Given the description of an element on the screen output the (x, y) to click on. 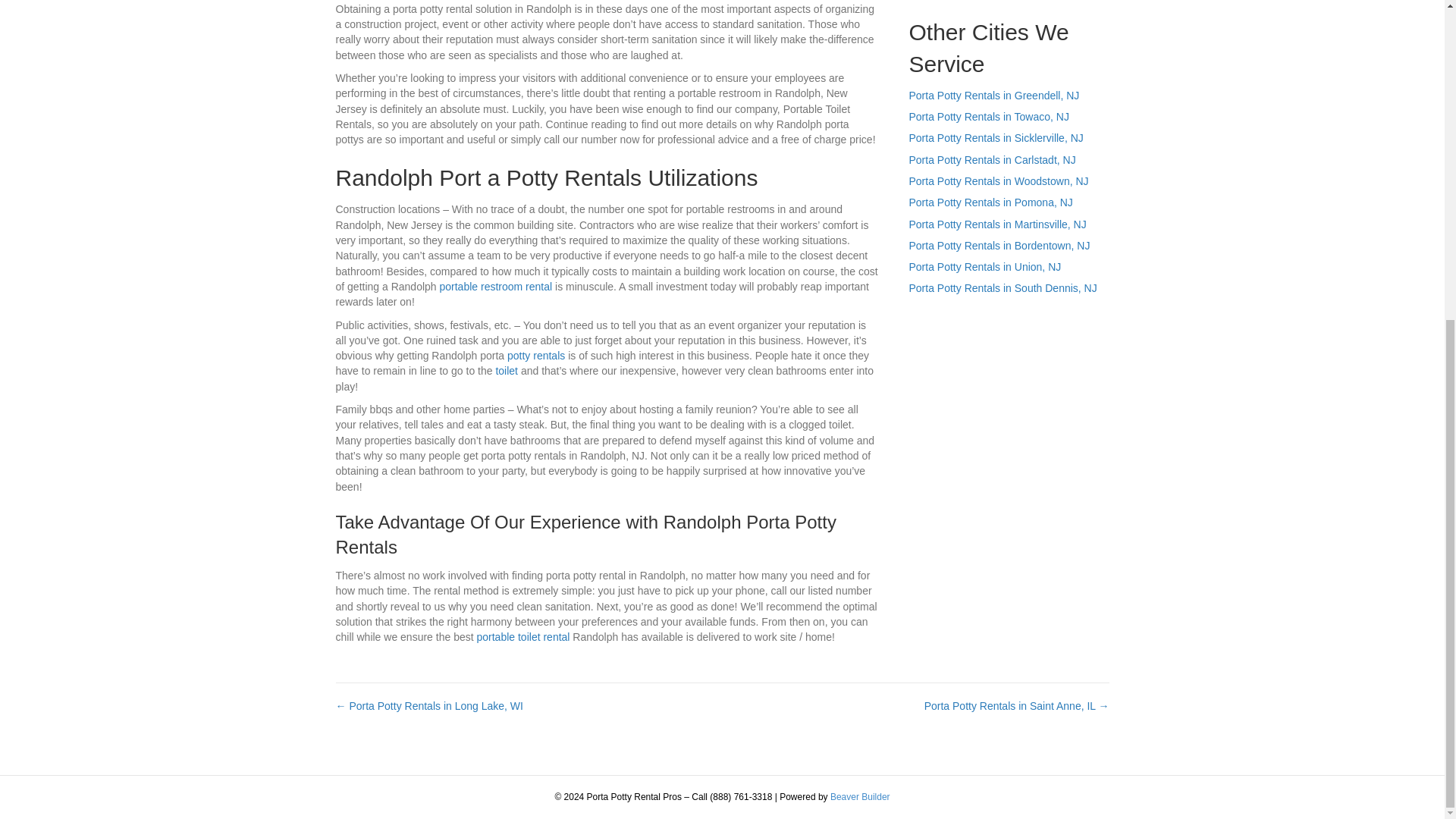
Porta Potty Rentals in Pomona, NJ (989, 202)
Porta Potty Rentals in Sicklerville, NJ (995, 137)
potty rentals (535, 355)
Beaver Builder (859, 796)
Porta Potty Rentals in Bordentown, NJ (998, 245)
Porta Potty Rentals in Union, NJ (984, 266)
Porta Potty Rentals in Carlstadt, NJ (991, 159)
Porta Potty Rentals in Sicklerville, NJ (995, 137)
Porta Potty Rentals in South Dennis, NJ (1002, 287)
portable toilet rental (522, 636)
Porta Potty Rentals in Martinsville, NJ (997, 224)
Porta Potty Rentals in South Dennis, NJ (1002, 287)
Porta Potty Rentals in Greendell, NJ (993, 95)
Porta Potty Rentals in Bordentown, NJ (998, 245)
portable restroom rental (496, 286)
